Given the description of an element on the screen output the (x, y) to click on. 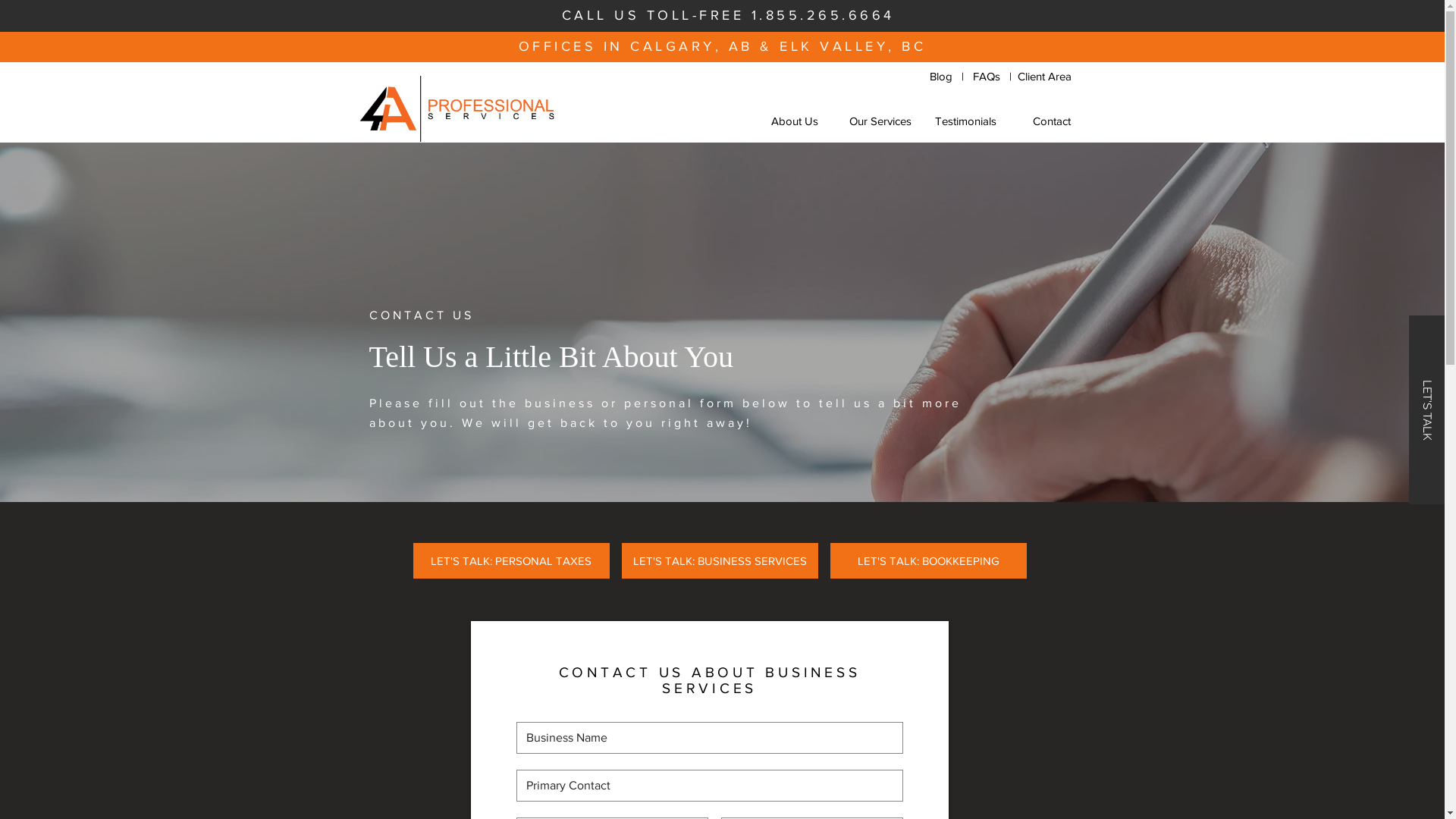
LET'S TALK: PERSONAL TAXES Element type: text (510, 560)
OFFICES IN CALGARY, AB & ELK VALLEY, BC Element type: text (722, 45)
Testimonials Element type: text (964, 120)
FAQs Element type: text (985, 75)
Client Area Element type: text (1044, 75)
About Us Element type: text (793, 120)
Contact Element type: text (1051, 120)
LET'S TALK: BOOKKEEPING Element type: text (927, 560)
Our Services Element type: text (879, 120)
Blog   Element type: text (943, 75)
LET'S TALK: BUSINESS SERVICES Element type: text (719, 560)
CALL US TOLL-FREE 1.855.265.6664 Element type: text (727, 14)
